Given the description of an element on the screen output the (x, y) to click on. 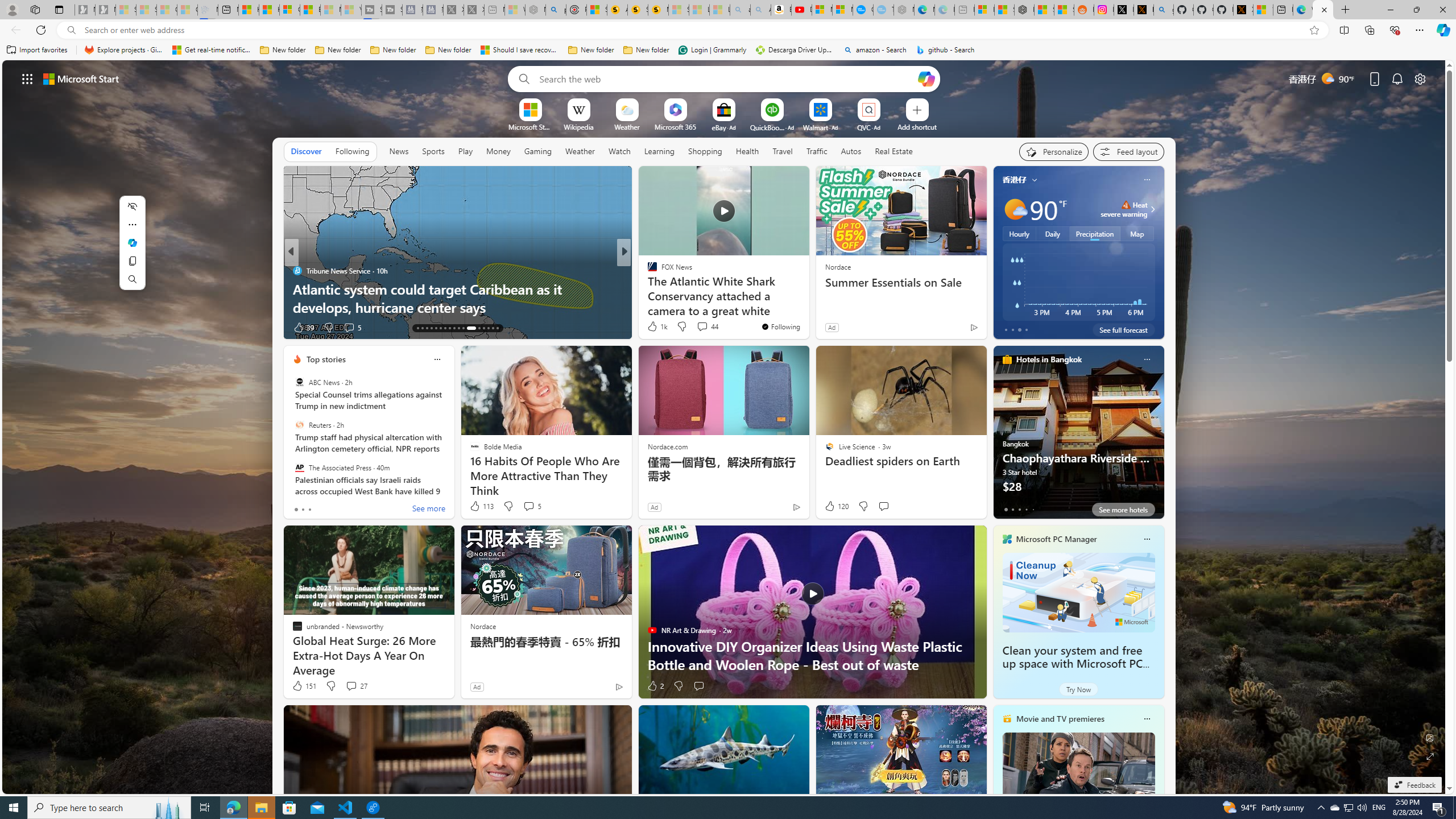
View comments 191 Comment (6, 327)
AutomationID: tab-14 (422, 328)
View comments 1 Comment (703, 327)
AutomationID: tab-20 (449, 328)
Enter your search term (726, 78)
Nordace.com (667, 446)
poe - Search (555, 9)
You're following The Weather Channel (949, 329)
